Given the description of an element on the screen output the (x, y) to click on. 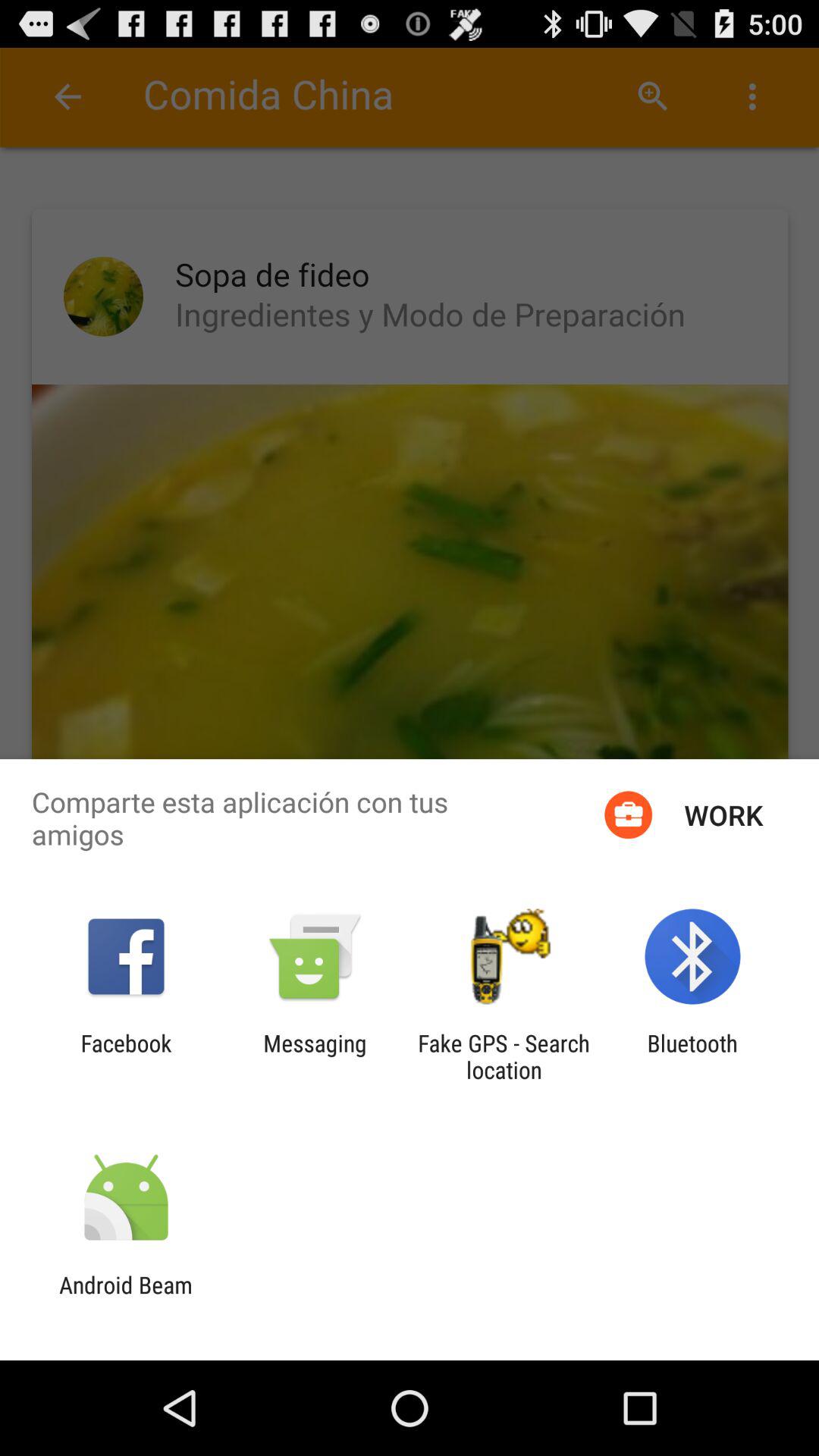
scroll to the messaging app (314, 1056)
